Given the description of an element on the screen output the (x, y) to click on. 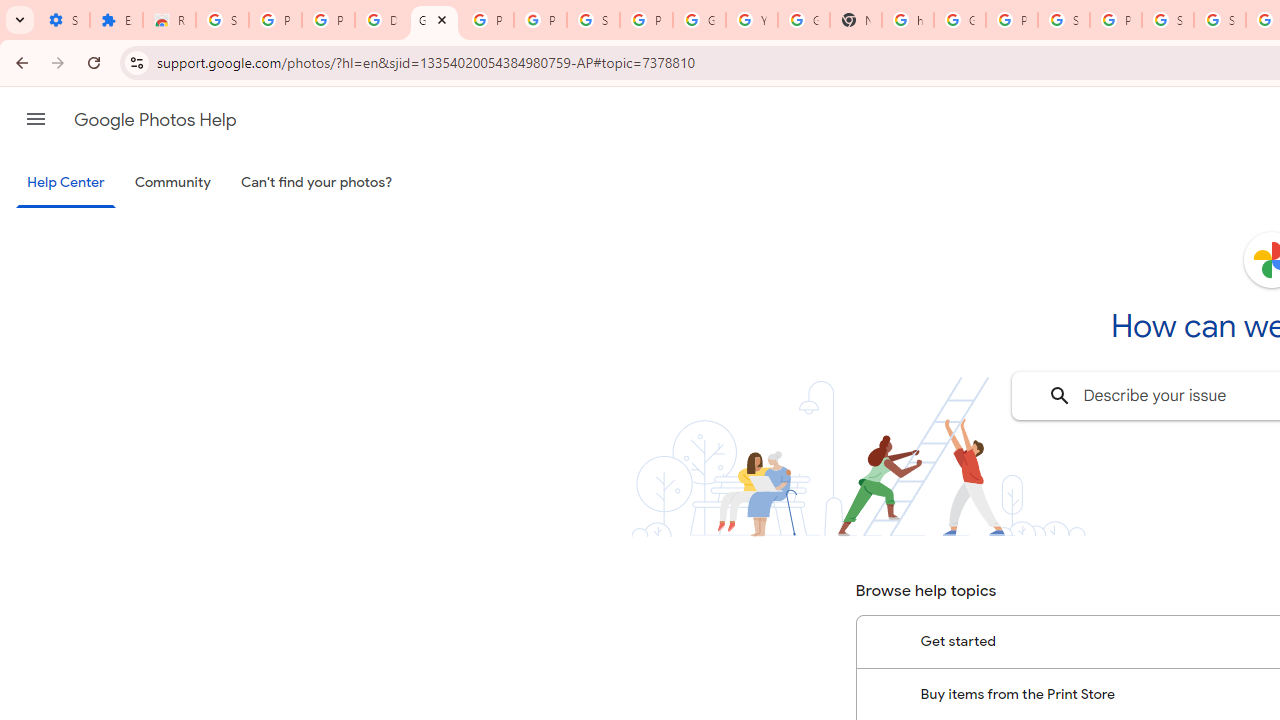
Google Account (699, 20)
New Tab (855, 20)
Can't find your photos? (317, 183)
Settings - On startup (63, 20)
Sign in - Google Accounts (1219, 20)
Google Photos Help (434, 20)
Sign in - Google Accounts (1167, 20)
Extensions (116, 20)
Sign in - Google Accounts (593, 20)
